Given the description of an element on the screen output the (x, y) to click on. 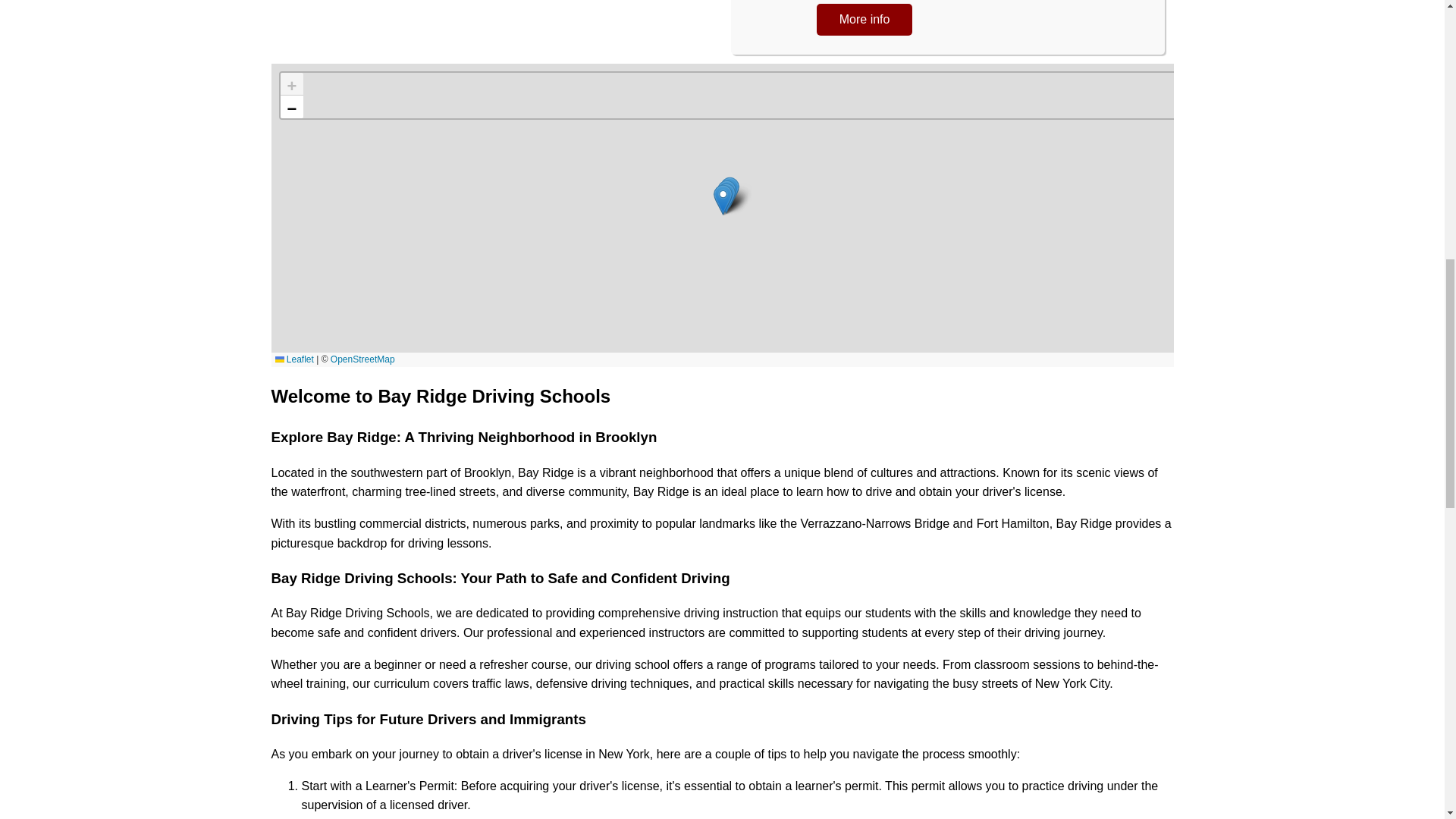
More info (864, 20)
Zoom out (291, 106)
Leaflet (294, 358)
OpenStreetMap (362, 358)
Zoom in (291, 83)
A JavaScript library for interactive maps (294, 358)
